Given the description of an element on the screen output the (x, y) to click on. 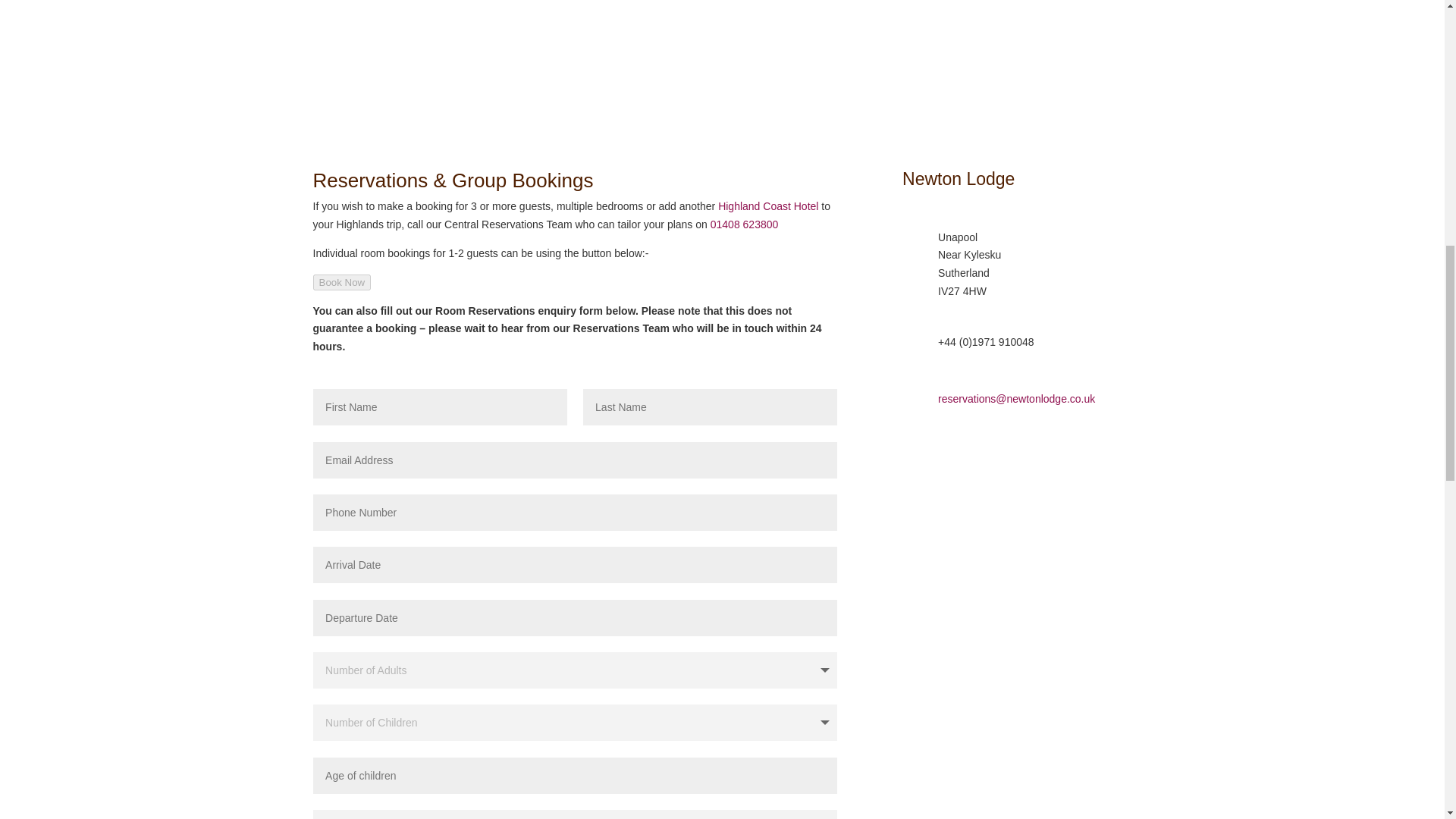
Book Now (342, 282)
Follow on Facebook (914, 459)
01408 623800 (744, 224)
Highland Coast Hotel (767, 205)
Follow on Instagram (944, 459)
